Given the description of an element on the screen output the (x, y) to click on. 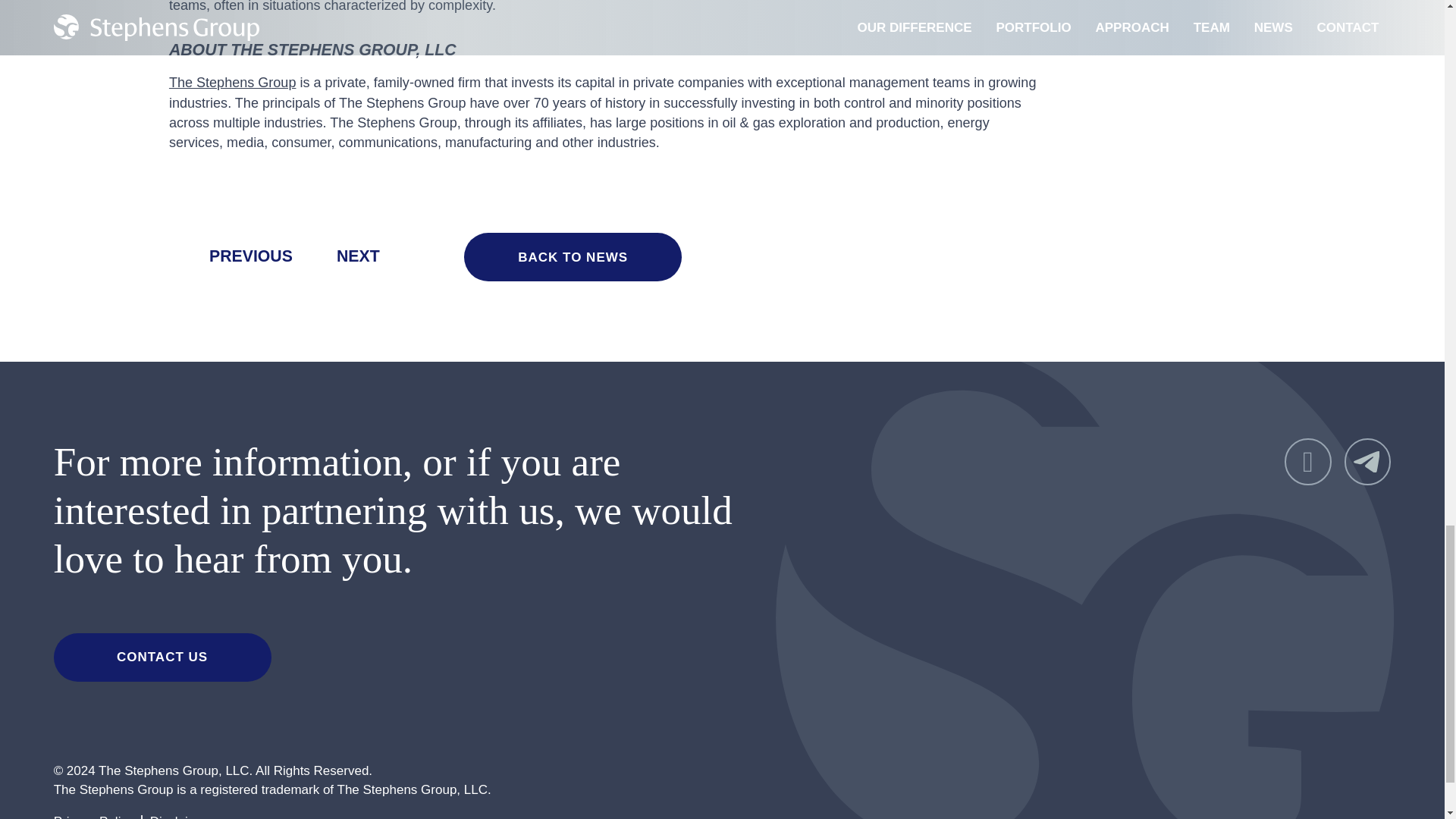
BACK TO NEWS (572, 256)
The Stephens Group (232, 82)
NEXT (378, 256)
PREVIOUS (230, 256)
